Given the description of an element on the screen output the (x, y) to click on. 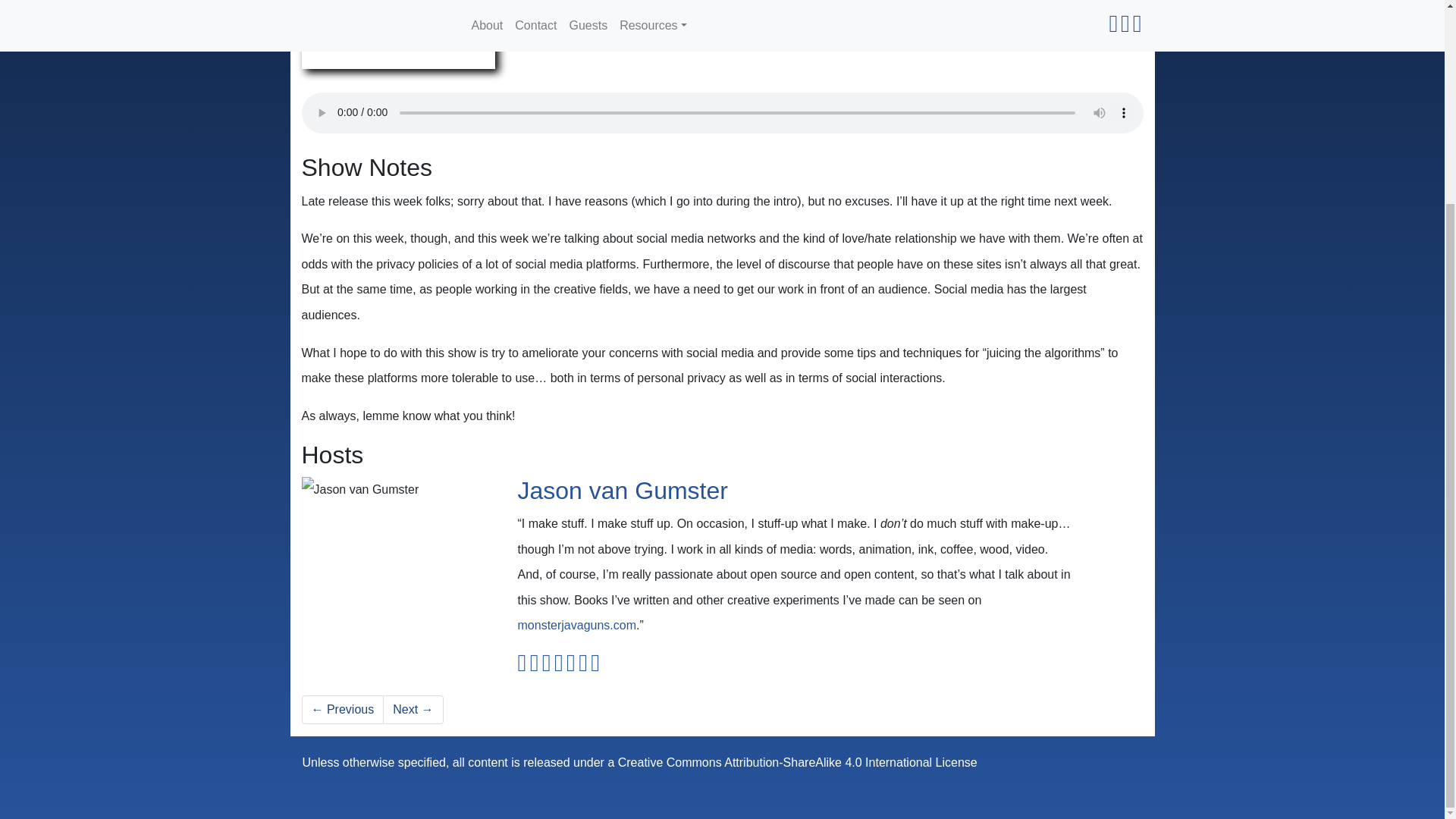
monsterjavaguns.com (576, 625)
Jason van Gumster (621, 490)
